Given the description of an element on the screen output the (x, y) to click on. 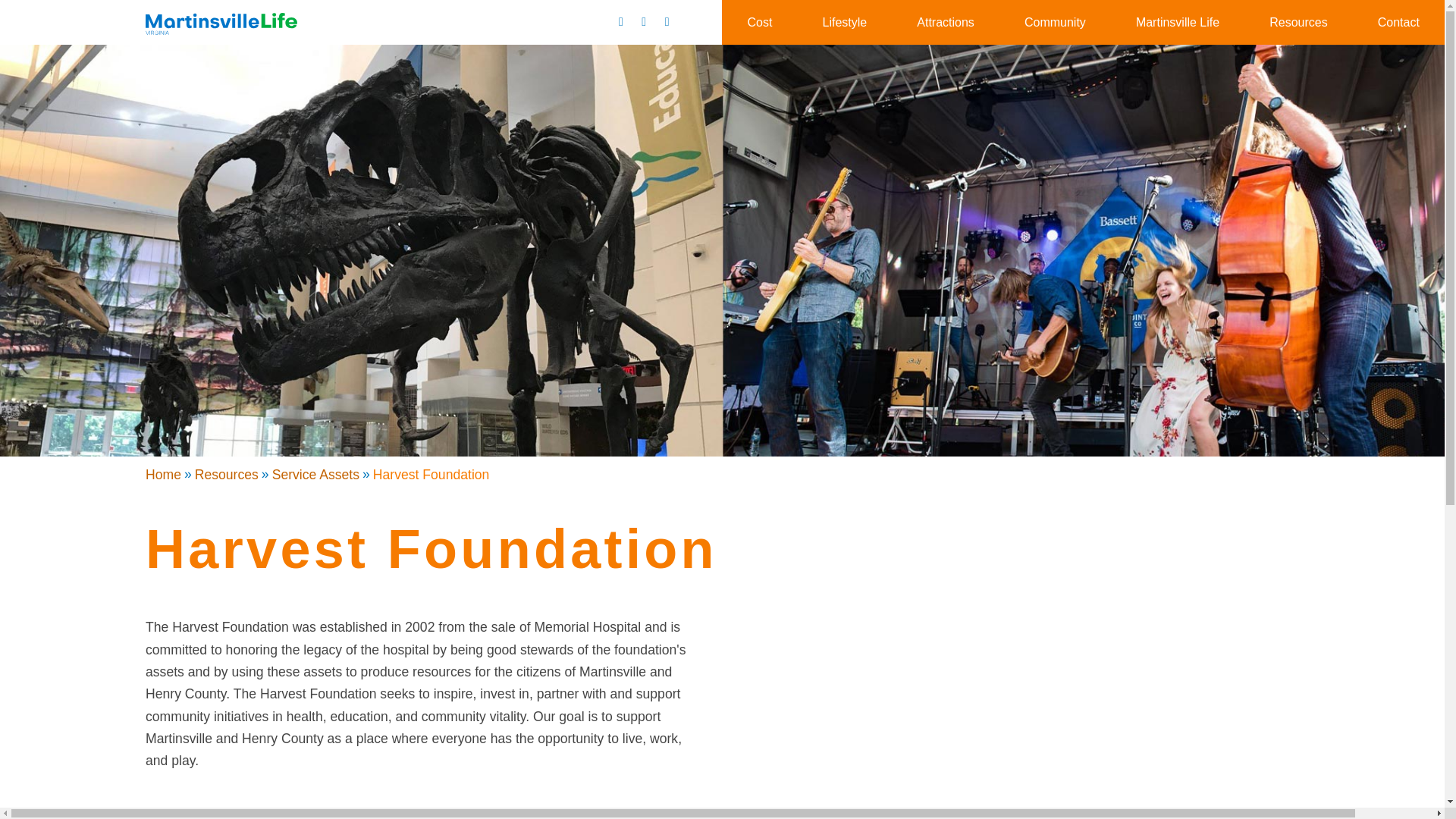
Contact (1398, 21)
Resources (1298, 21)
Home (162, 475)
Resources (1298, 21)
Resources (227, 475)
Community (1053, 21)
Martinsville Life (1177, 21)
Cost (759, 21)
Cost (759, 21)
Martinsville Life (1177, 21)
